Given the description of an element on the screen output the (x, y) to click on. 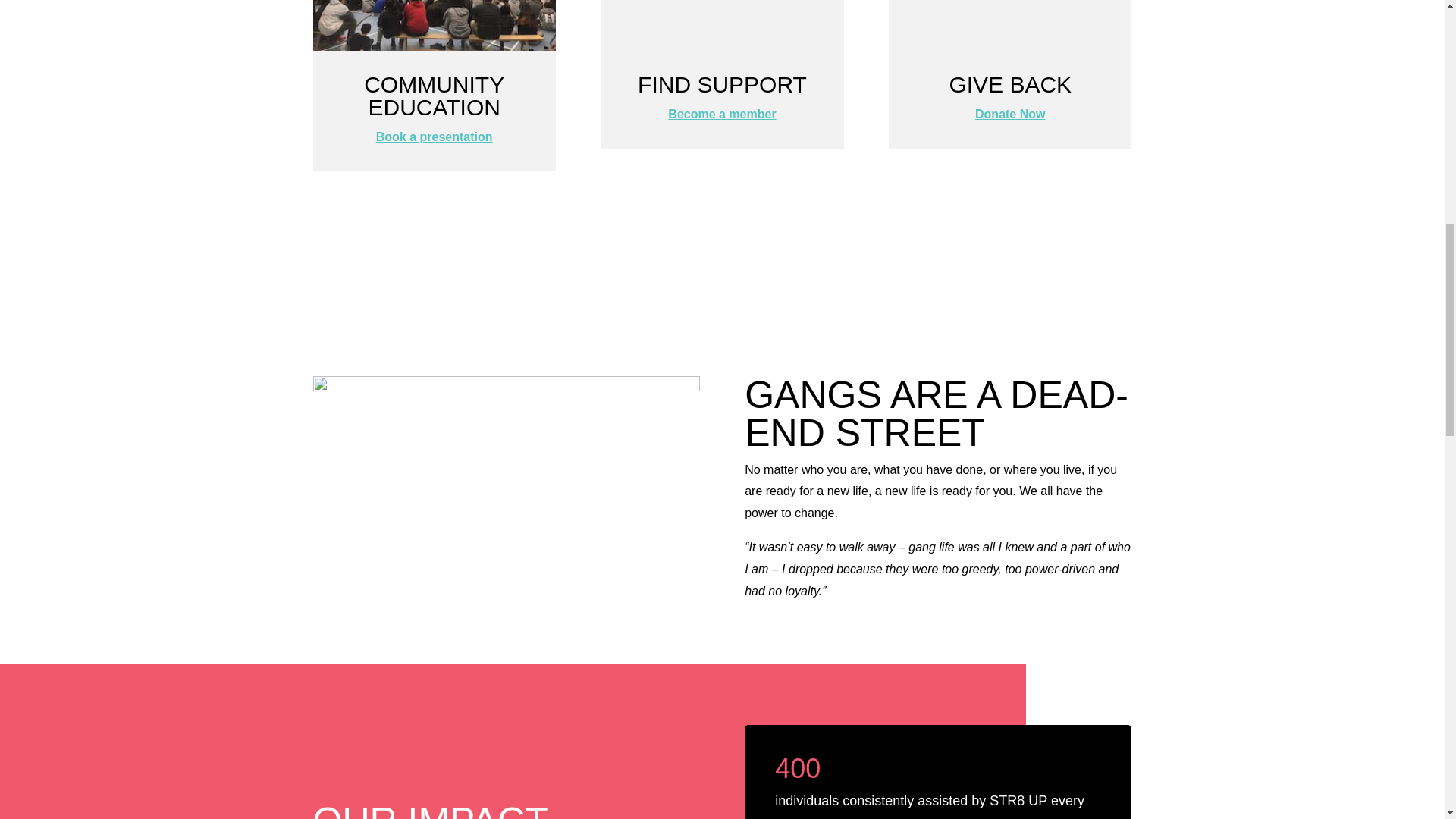
give-back (1009, 25)
Donate Now (1010, 113)
Book a presentation (434, 136)
Become a member (722, 113)
mathiasartwork 4 (505, 483)
